Given the description of an element on the screen output the (x, y) to click on. 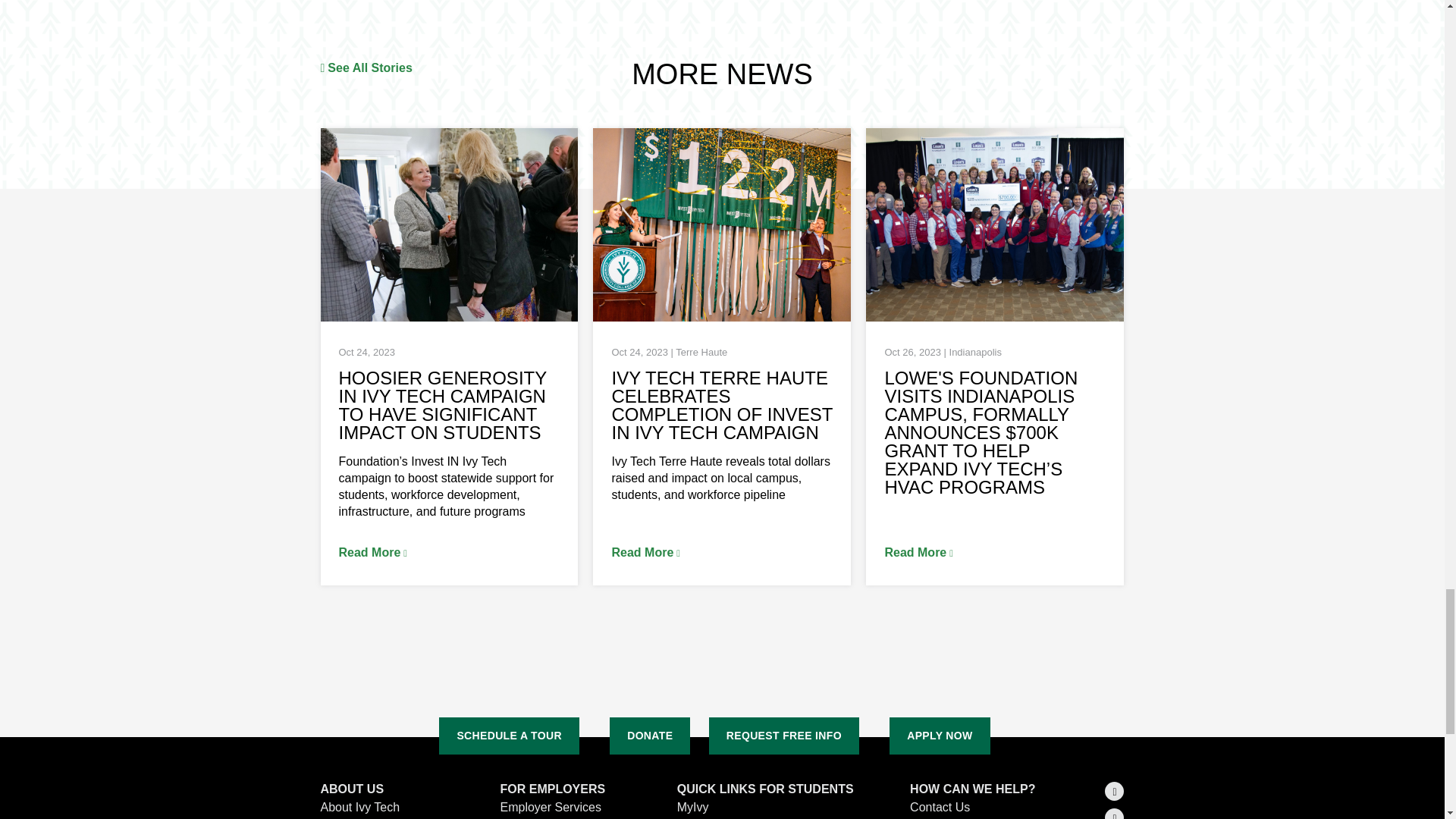
Twitter (1114, 791)
LinkedIn (1114, 813)
